Given the description of an element on the screen output the (x, y) to click on. 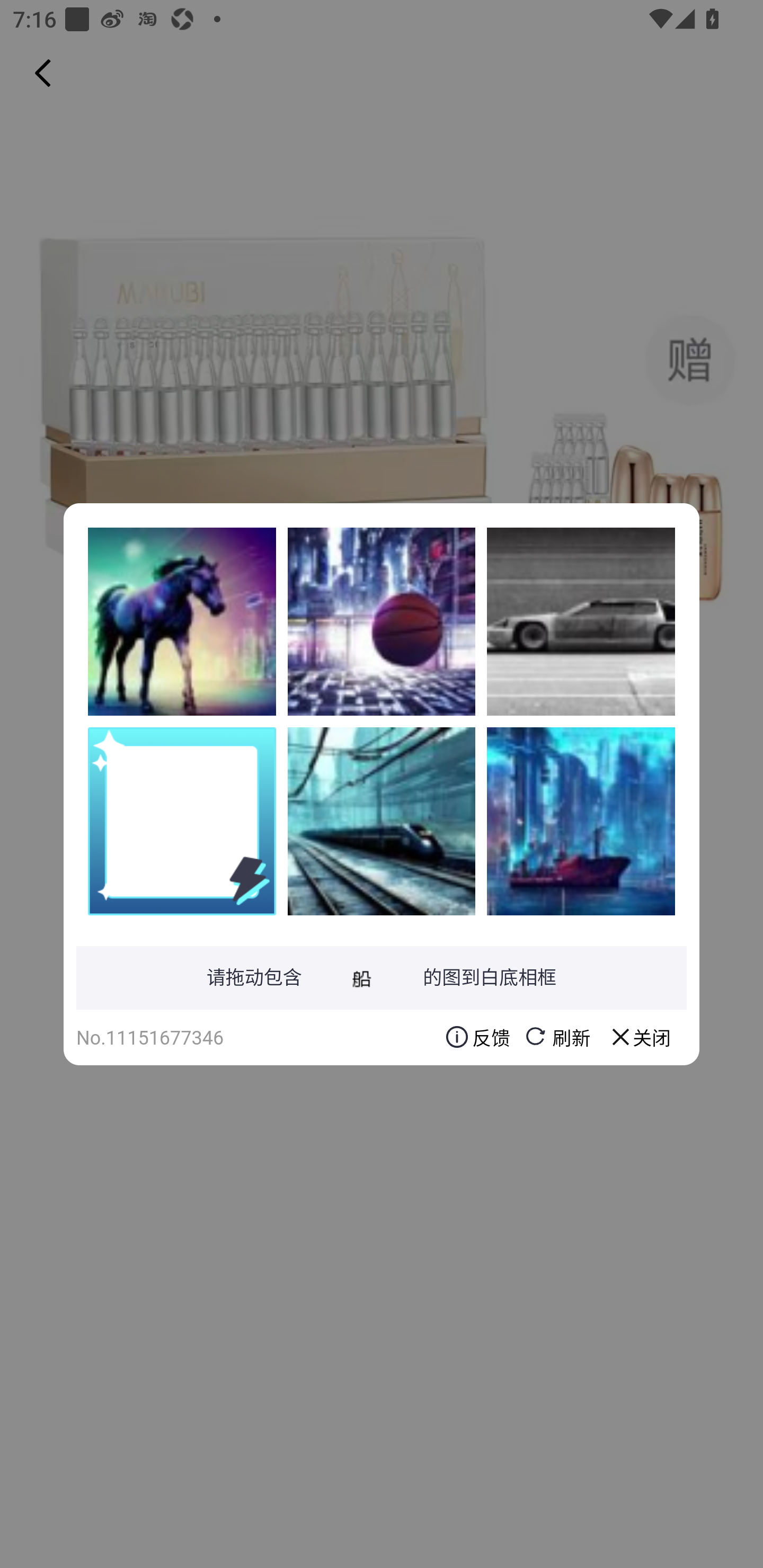
IujchQMaaMOxGh7JnmJRw1odLZL+7QOP3B3R8ecTVP9+SfL (181, 621)
GDHwN0 (381, 621)
P (580, 820)
